Given the description of an element on the screen output the (x, y) to click on. 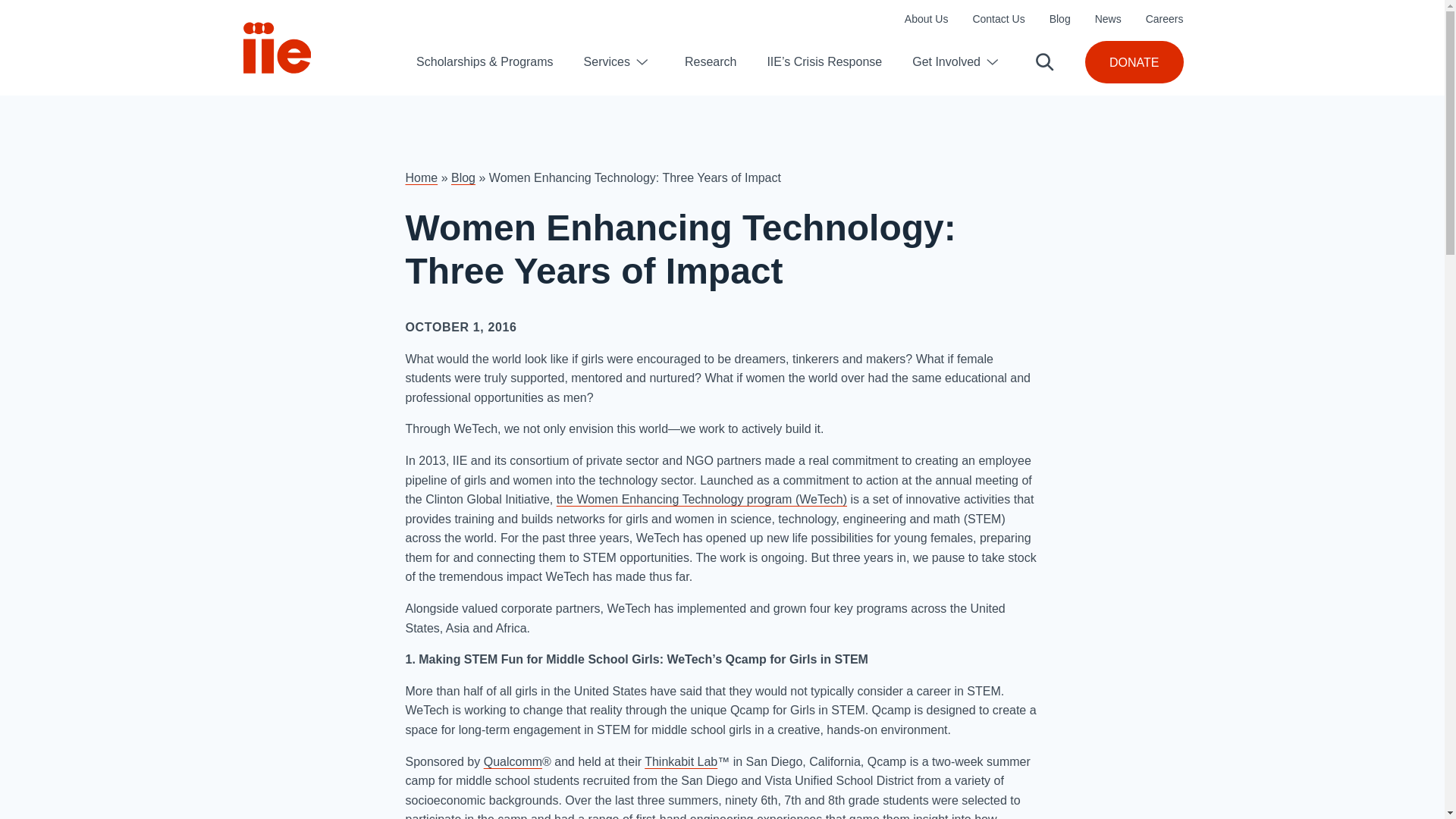
Contact Us (998, 19)
News (1107, 19)
Research (710, 61)
Home (421, 177)
Toggle submenu for: Services (641, 62)
About Us (926, 19)
IIE - The Power of International Education (277, 47)
Get Involved (945, 61)
Careers (1164, 19)
Toggle submenu for: Get Involved (991, 62)
Open search (1045, 61)
DONATE (1133, 61)
Blog (1059, 19)
Services (606, 61)
